Given the description of an element on the screen output the (x, y) to click on. 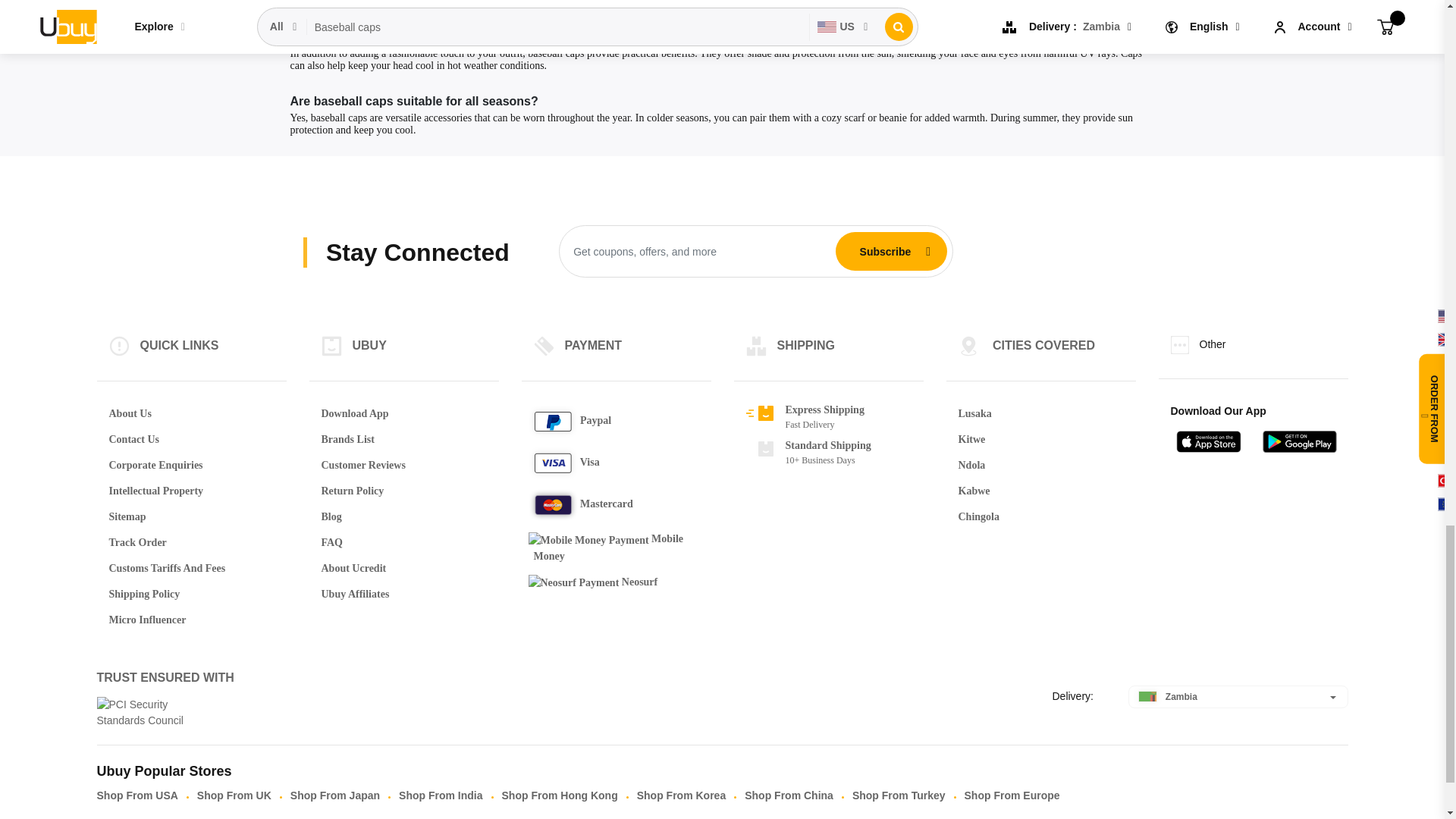
Subscribe (885, 251)
